Given the description of an element on the screen output the (x, y) to click on. 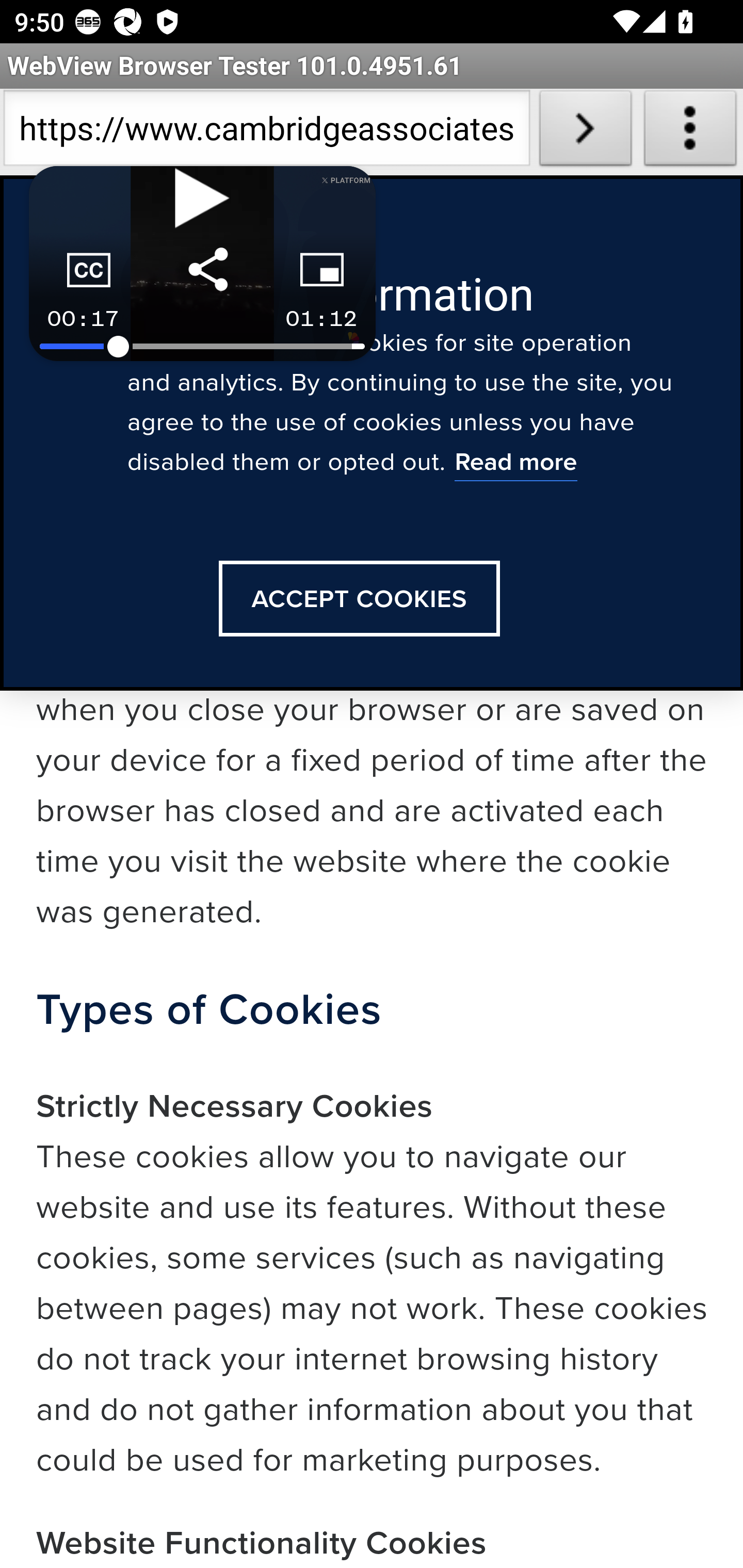
Load URL (585, 132)
About WebView (690, 132)
Read more (515, 464)
ACCEPT COOKIES (359, 598)
